Given the description of an element on the screen output the (x, y) to click on. 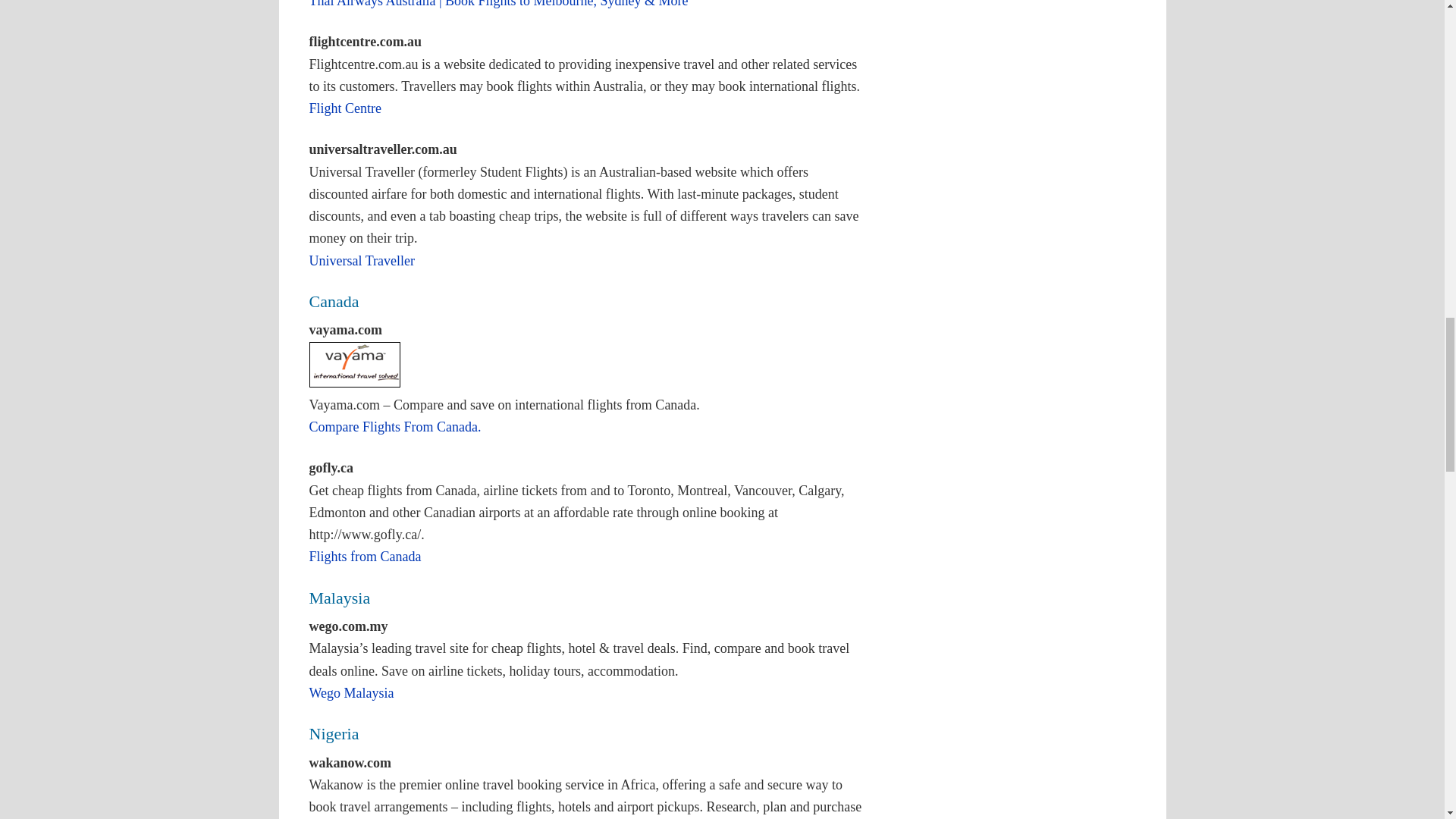
Compare Flights From Canada. (394, 426)
Flights from Canada (365, 556)
Wego Malaysia (351, 693)
Universal Traveller (361, 260)
Flight Centre (344, 108)
